Given the description of an element on the screen output the (x, y) to click on. 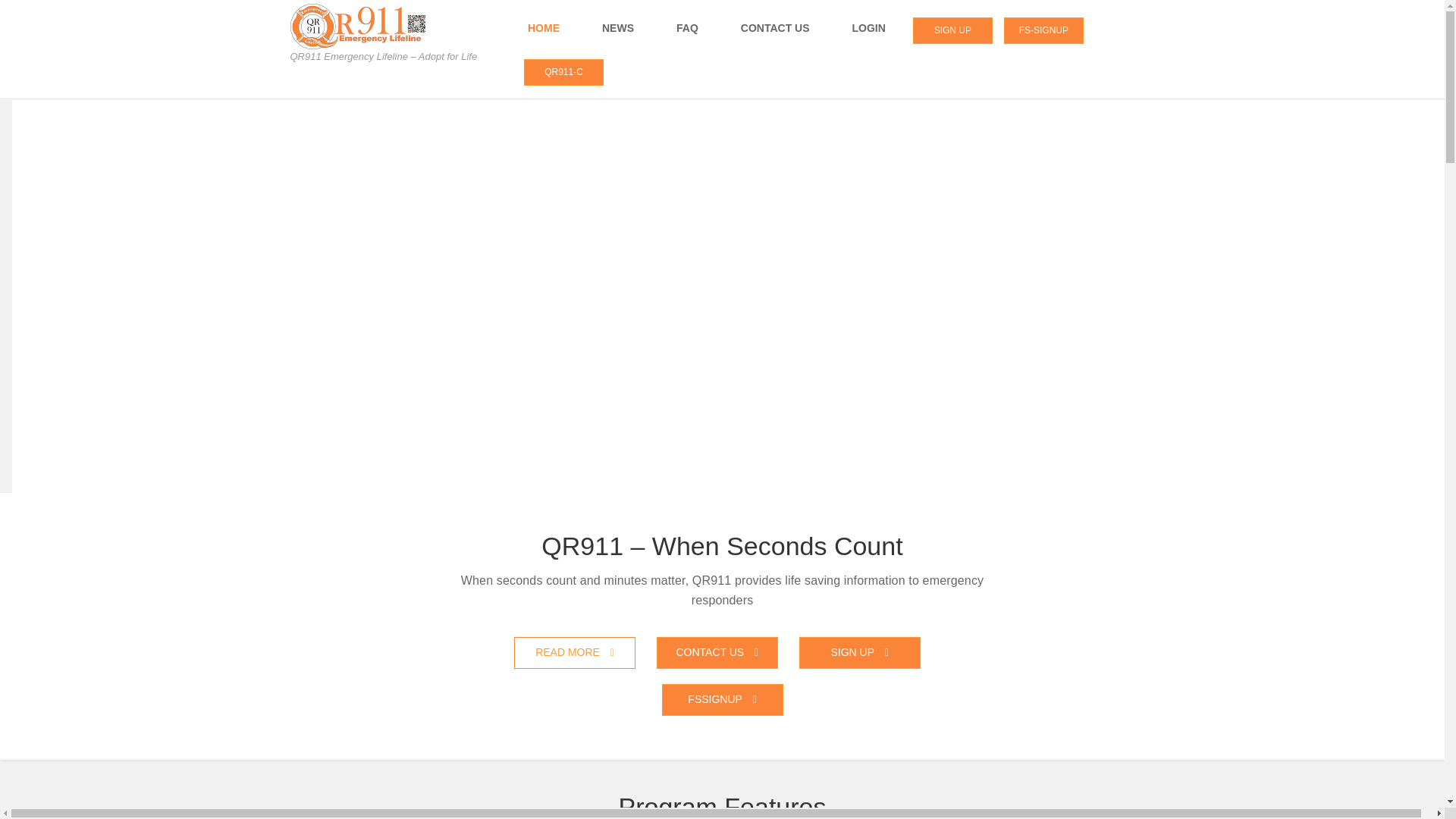
SIGN UP (952, 30)
LOGIN (869, 27)
FS-SIGNUP (1043, 30)
CONTACT US (716, 653)
QR911-C (564, 71)
READ MORE (573, 653)
FSSIGNUP (722, 699)
FAQ (687, 27)
CONTACT US (775, 27)
SIGN UP (859, 653)
NEWS (617, 27)
HOME (543, 27)
